Given the description of an element on the screen output the (x, y) to click on. 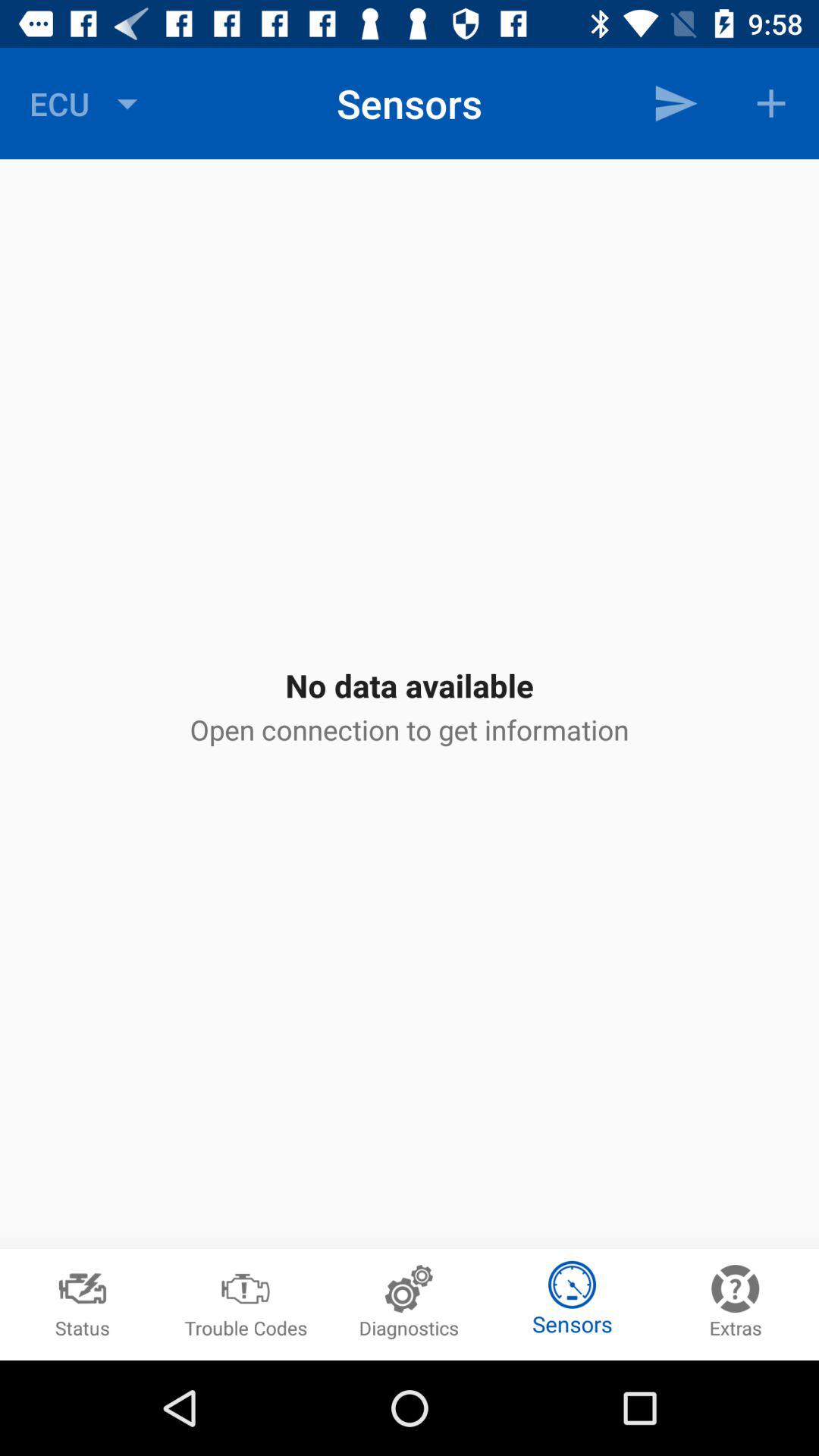
open ecu icon (87, 103)
